Given the description of an element on the screen output the (x, y) to click on. 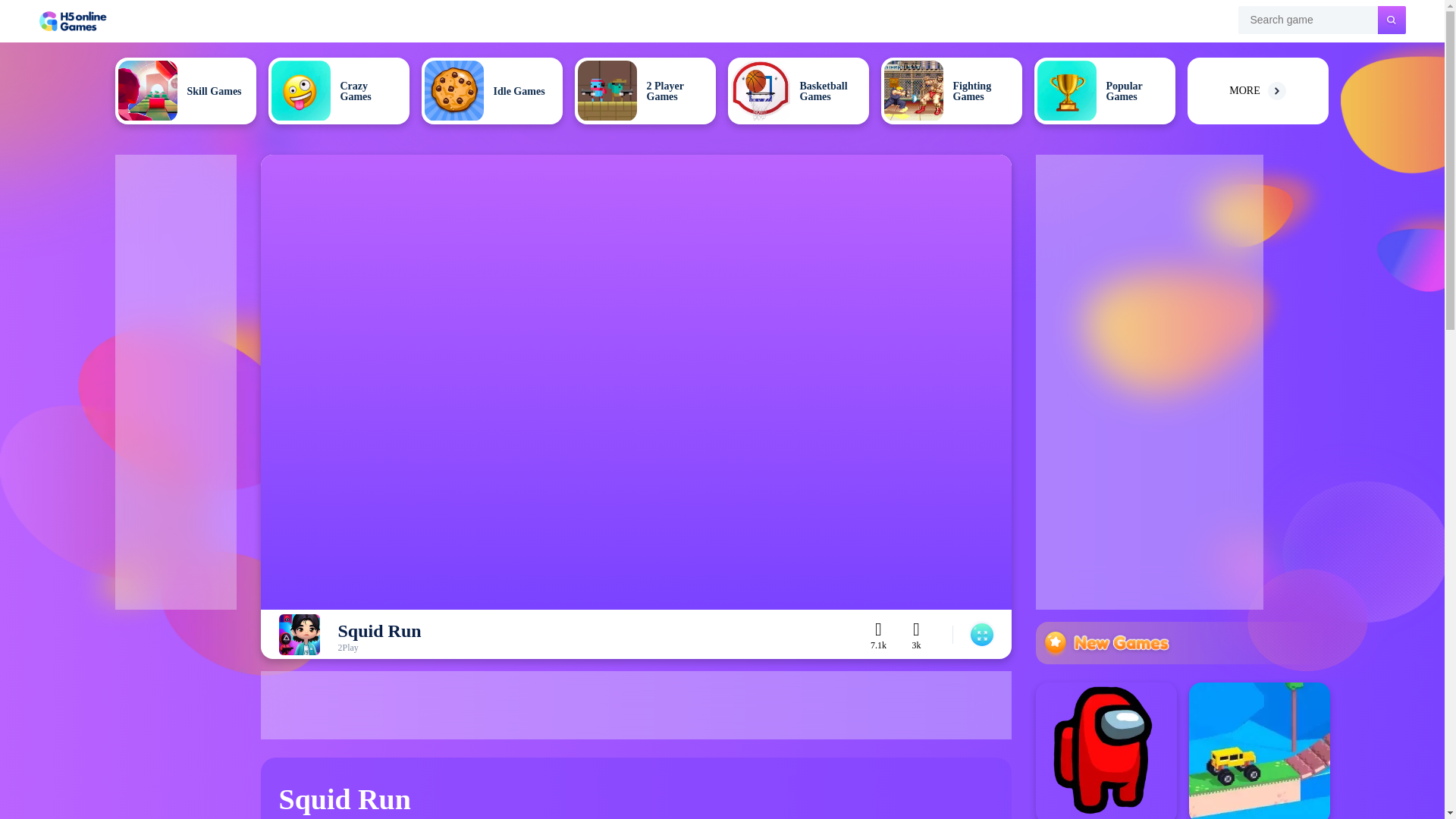
2 Player Games (645, 90)
Idle Games (492, 90)
Skill Games (185, 90)
Popular Games (1103, 90)
Crazy Games (338, 90)
Basketball Games (798, 90)
Fighting Games (951, 90)
